Given the description of an element on the screen output the (x, y) to click on. 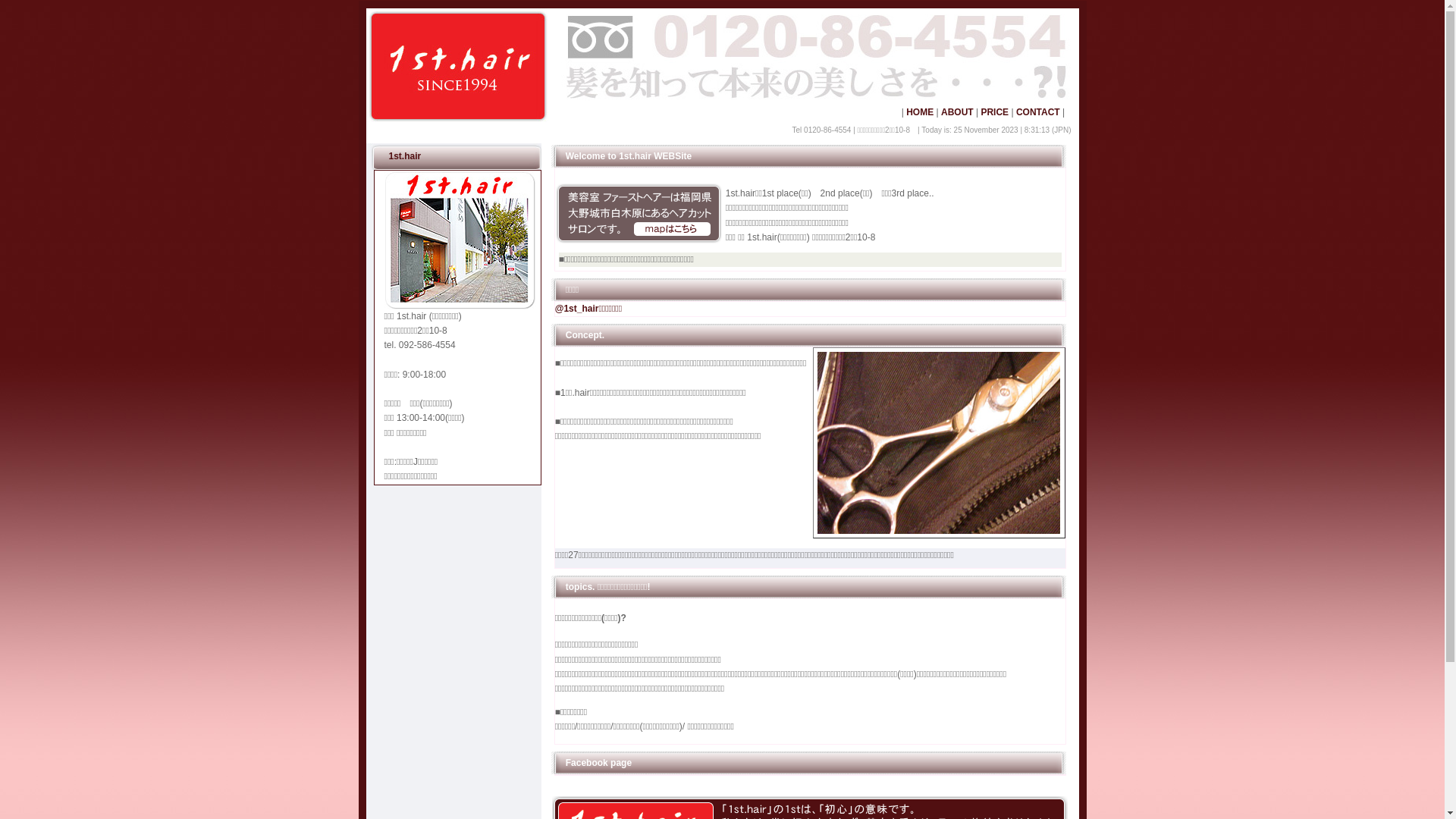
CONTACT Element type: text (1038, 111)
ABOUT Element type: text (957, 111)
PRICE Element type: text (994, 111)
HOME Element type: text (919, 111)
